Given the description of an element on the screen output the (x, y) to click on. 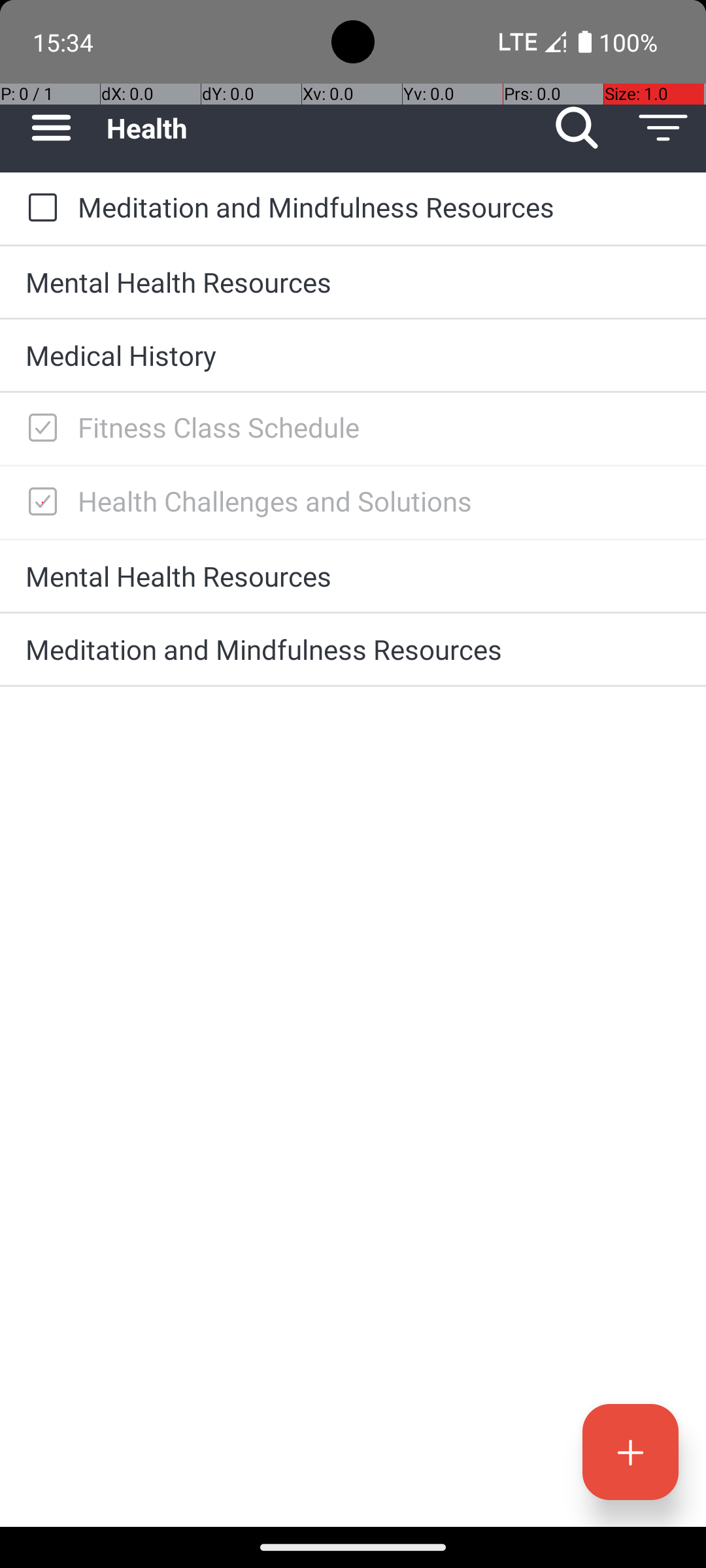
to-do: Meditation and Mindfulness Resources Element type: android.widget.CheckBox (38, 208)
Meditation and Mindfulness Resources Element type: android.widget.TextView (378, 206)
Mental Health Resources Element type: android.widget.TextView (352, 281)
Medical History Element type: android.widget.TextView (352, 354)
to-do: Fitness Class Schedule Element type: android.widget.CheckBox (38, 428)
to-do: Health Challenges and Solutions Element type: android.widget.CheckBox (38, 502)
Health Challenges and Solutions Element type: android.widget.TextView (378, 500)
